Given the description of an element on the screen output the (x, y) to click on. 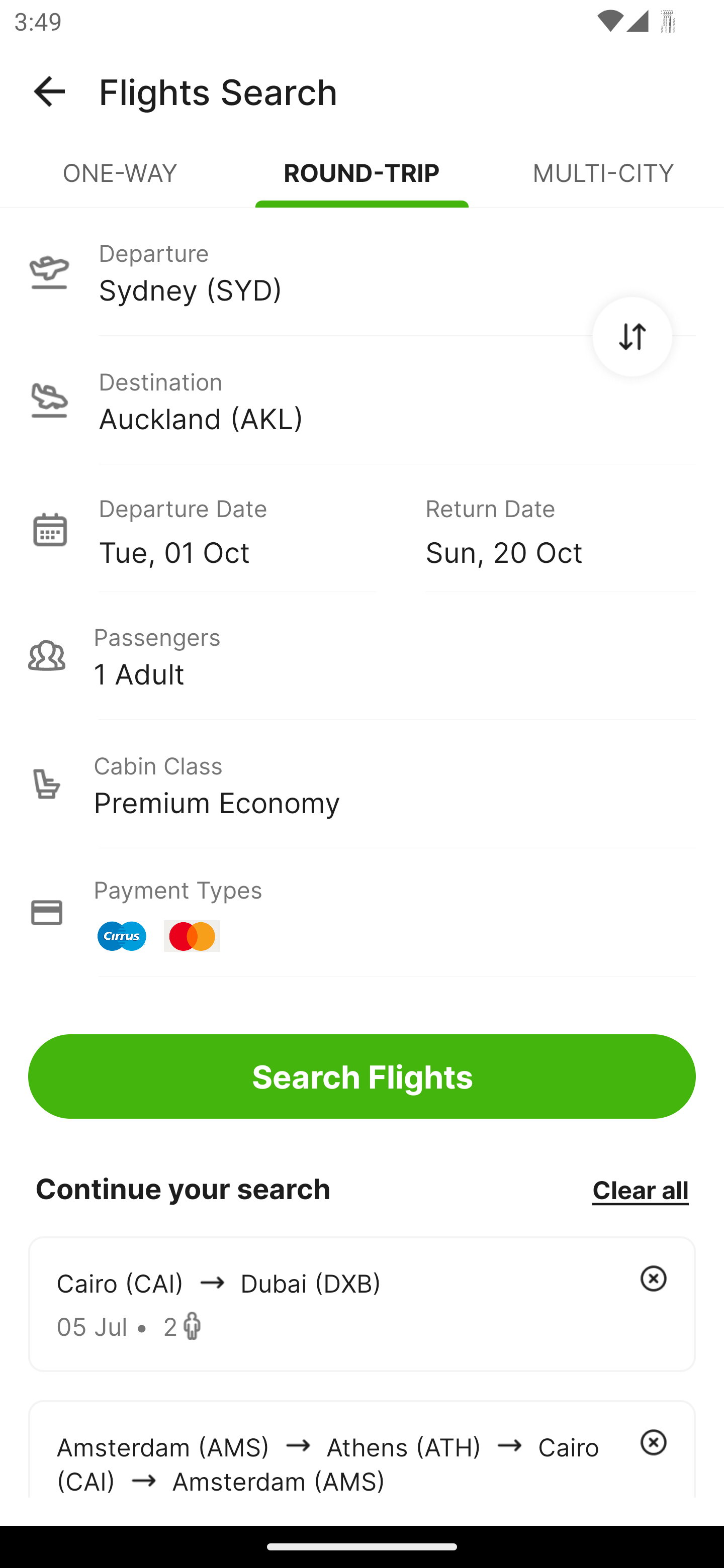
ONE-WAY (120, 180)
ROUND-TRIP (361, 180)
MULTI-CITY (603, 180)
Departure Sydney (SYD) (362, 270)
Destination Auckland (AKL) (362, 400)
Departure Date Tue, 01 Oct (247, 528)
Return Date Sun, 20 Oct (546, 528)
Passengers 1 Adult (362, 655)
Cabin Class Premium Economy (362, 783)
Payment Types (362, 912)
Search Flights (361, 1075)
Clear all (640, 1189)
Cairo (CAI)  arrowIcon  Dubai (DXB) 05 Jul •  2  (361, 1303)
